Given the description of an element on the screen output the (x, y) to click on. 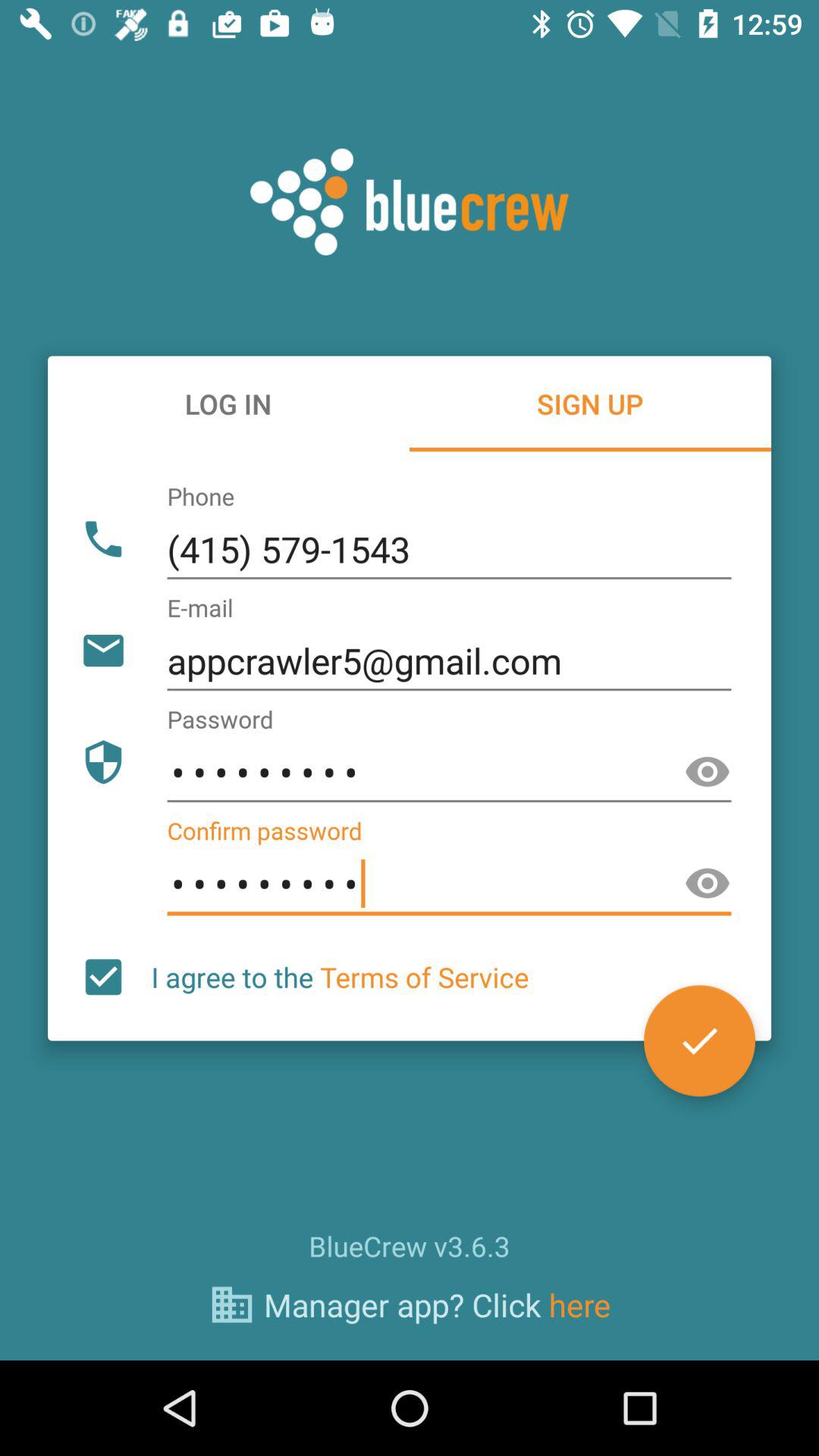
scroll to manager app click icon (436, 1304)
